Given the description of an element on the screen output the (x, y) to click on. 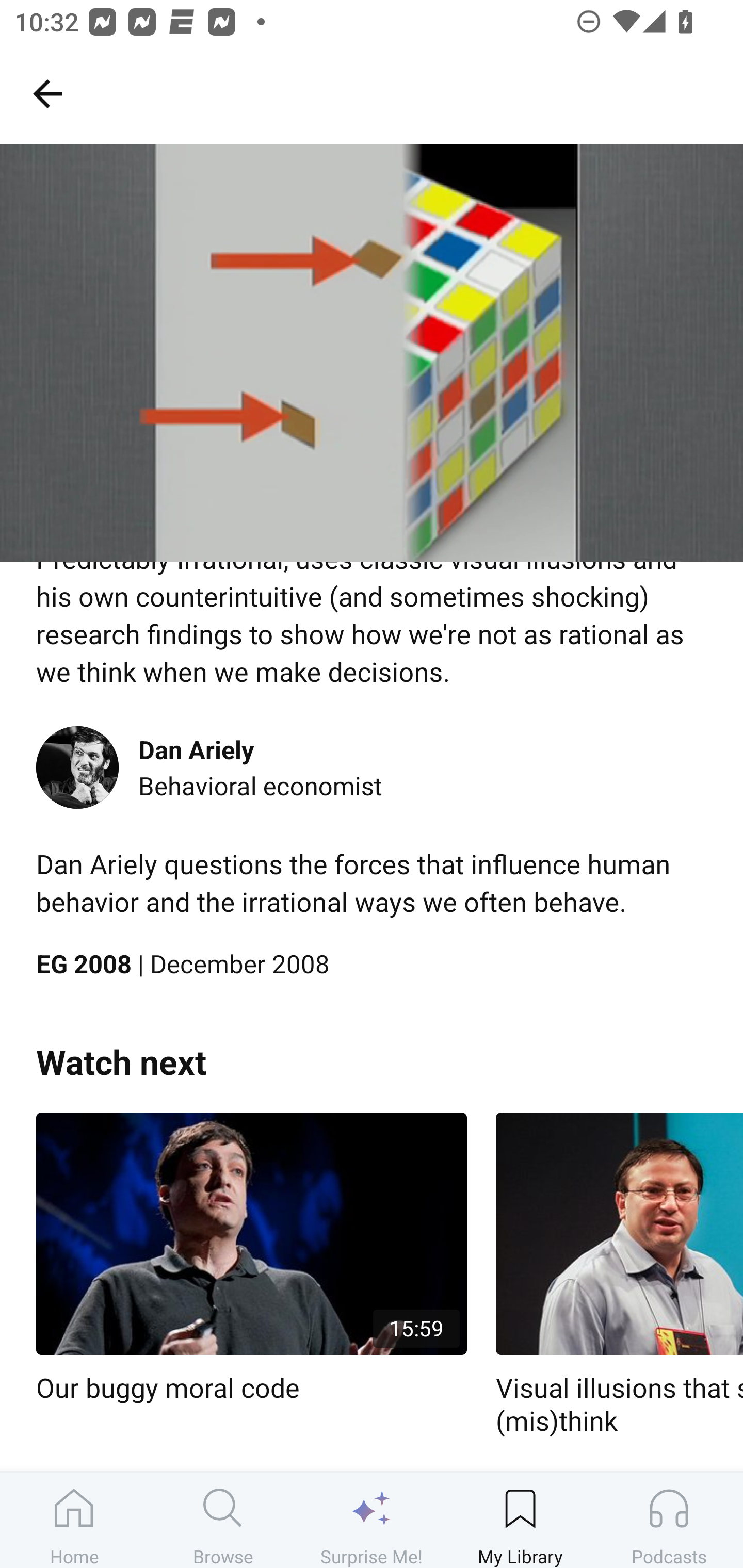
My Library, back (47, 92)
15:59 Our buggy moral code (251, 1258)
Visual illusions that show how we (mis)think (619, 1275)
Home (74, 1520)
Browse (222, 1520)
Surprise Me! (371, 1520)
My Library (519, 1520)
Podcasts (668, 1520)
